Given the description of an element on the screen output the (x, y) to click on. 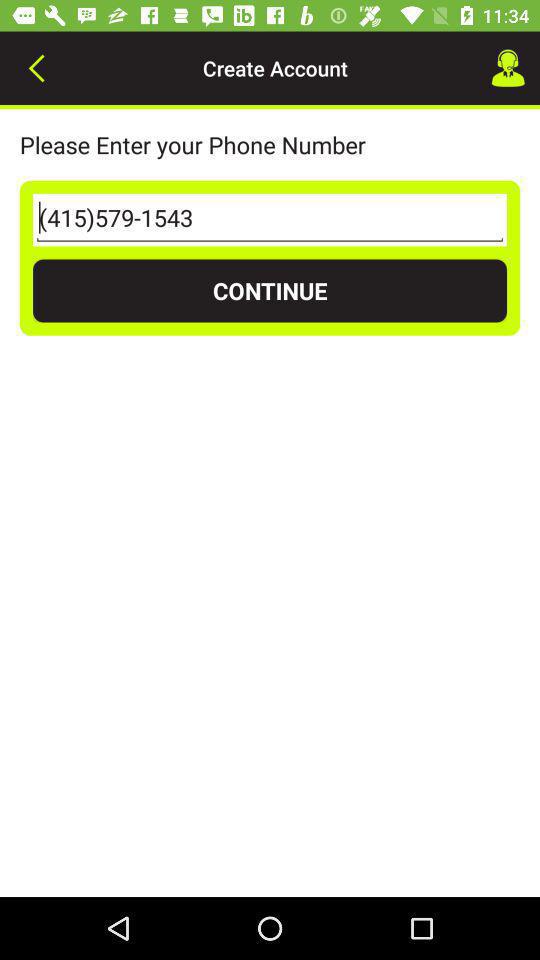
choose the (415)579-1543 (270, 219)
